Given the description of an element on the screen output the (x, y) to click on. 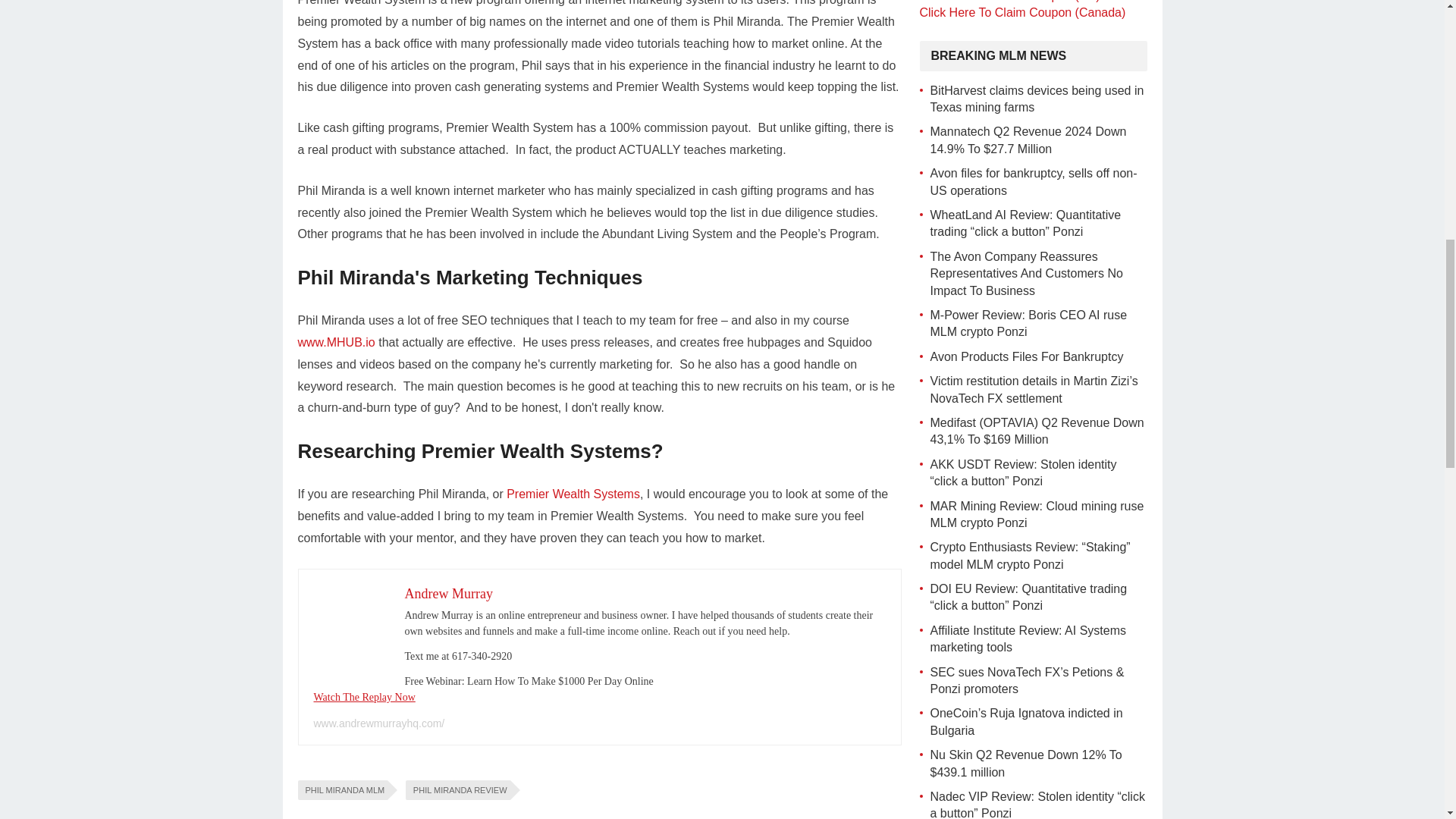
Phil Miranda Review 2 (352, 622)
Watch The Replay Now (364, 696)
Andrew Murray (448, 593)
Premier Wealth Systems (573, 493)
www.MHUB.io (335, 341)
